Given the description of an element on the screen output the (x, y) to click on. 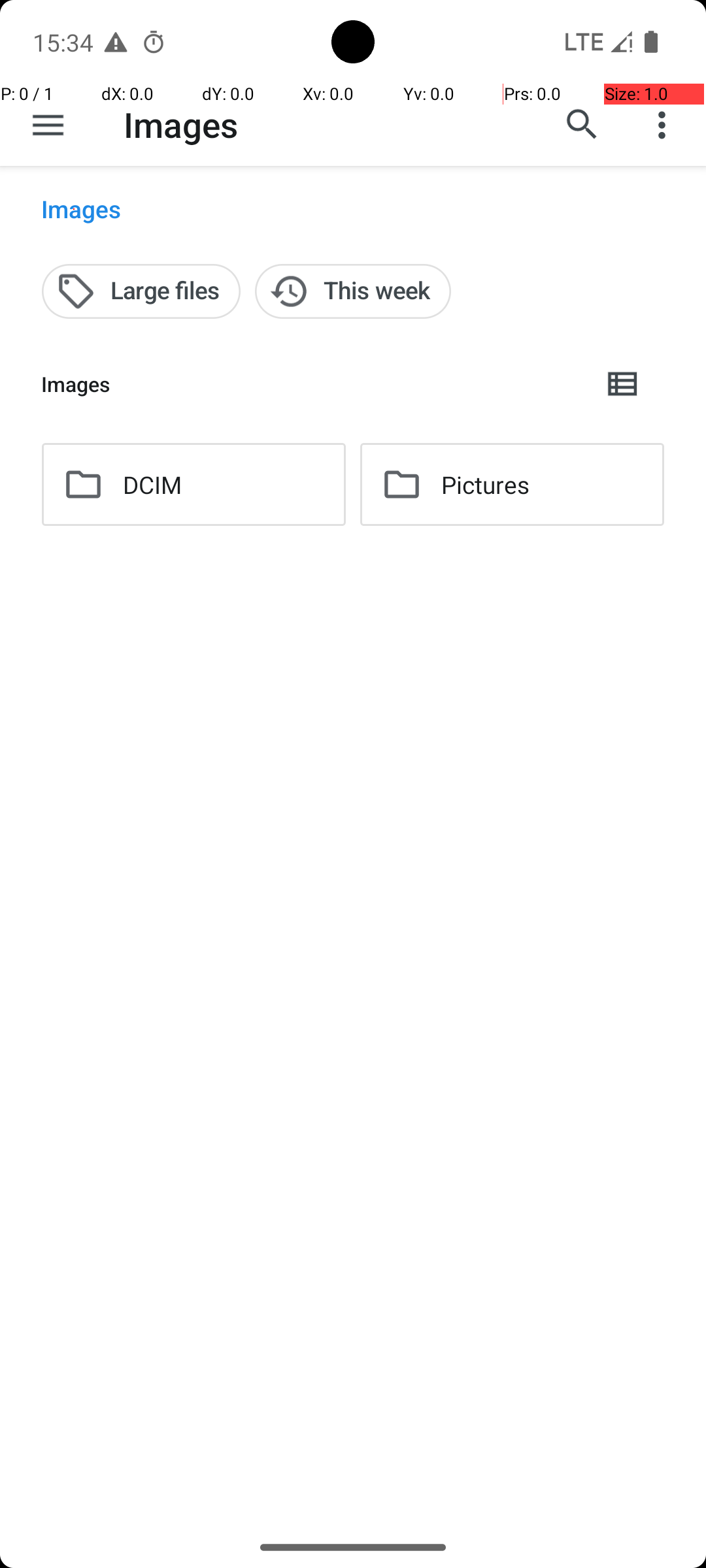
DCIM Element type: android.widget.TextView (151, 484)
Pictures Element type: android.widget.TextView (485, 484)
